Given the description of an element on the screen output the (x, y) to click on. 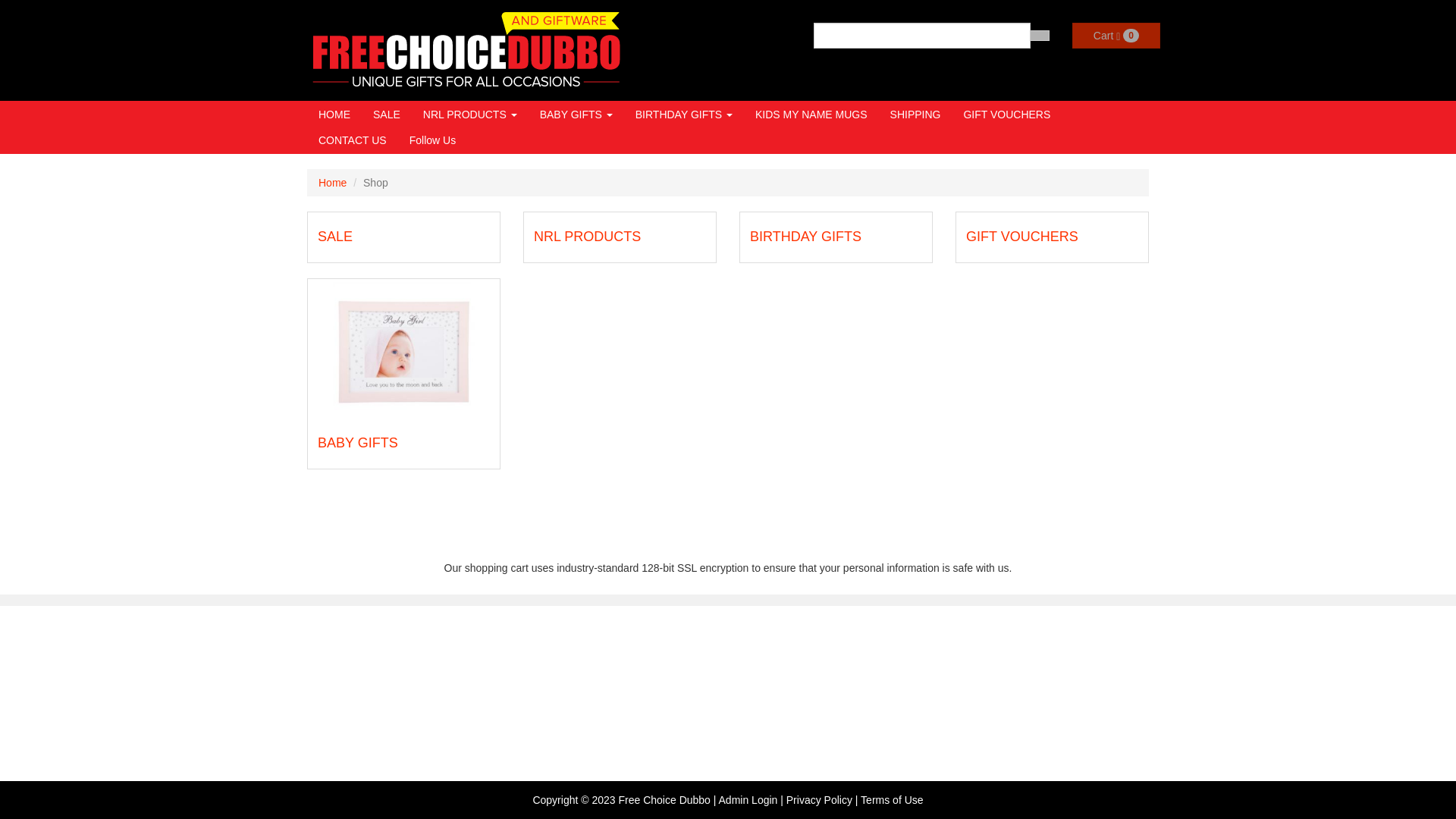
HOME Element type: text (334, 114)
Follow Us Element type: text (432, 140)
GIFT VOUCHERS Element type: text (1006, 114)
Admin Login Element type: text (748, 799)
GIFT VOUCHERS Element type: text (1022, 236)
Home Element type: text (332, 182)
SALE Element type: text (334, 236)
BABY GIFTS Element type: text (576, 114)
BIRTHDAY GIFTS Element type: text (805, 236)
submit Element type: text (1039, 35)
Privacy Policy Element type: text (819, 799)
BIRTHDAY GIFTS Element type: text (683, 114)
SHIPPING Element type: text (915, 114)
BABY GIFTS Element type: text (357, 442)
Terms of Use Element type: text (891, 799)
NRL PRODUCTS Element type: text (469, 114)
SALE Element type: text (386, 114)
NRL PRODUCTS Element type: text (586, 236)
KIDS MY NAME MUGS Element type: text (810, 114)
CONTACT US Element type: text (352, 140)
